Given the description of an element on the screen output the (x, y) to click on. 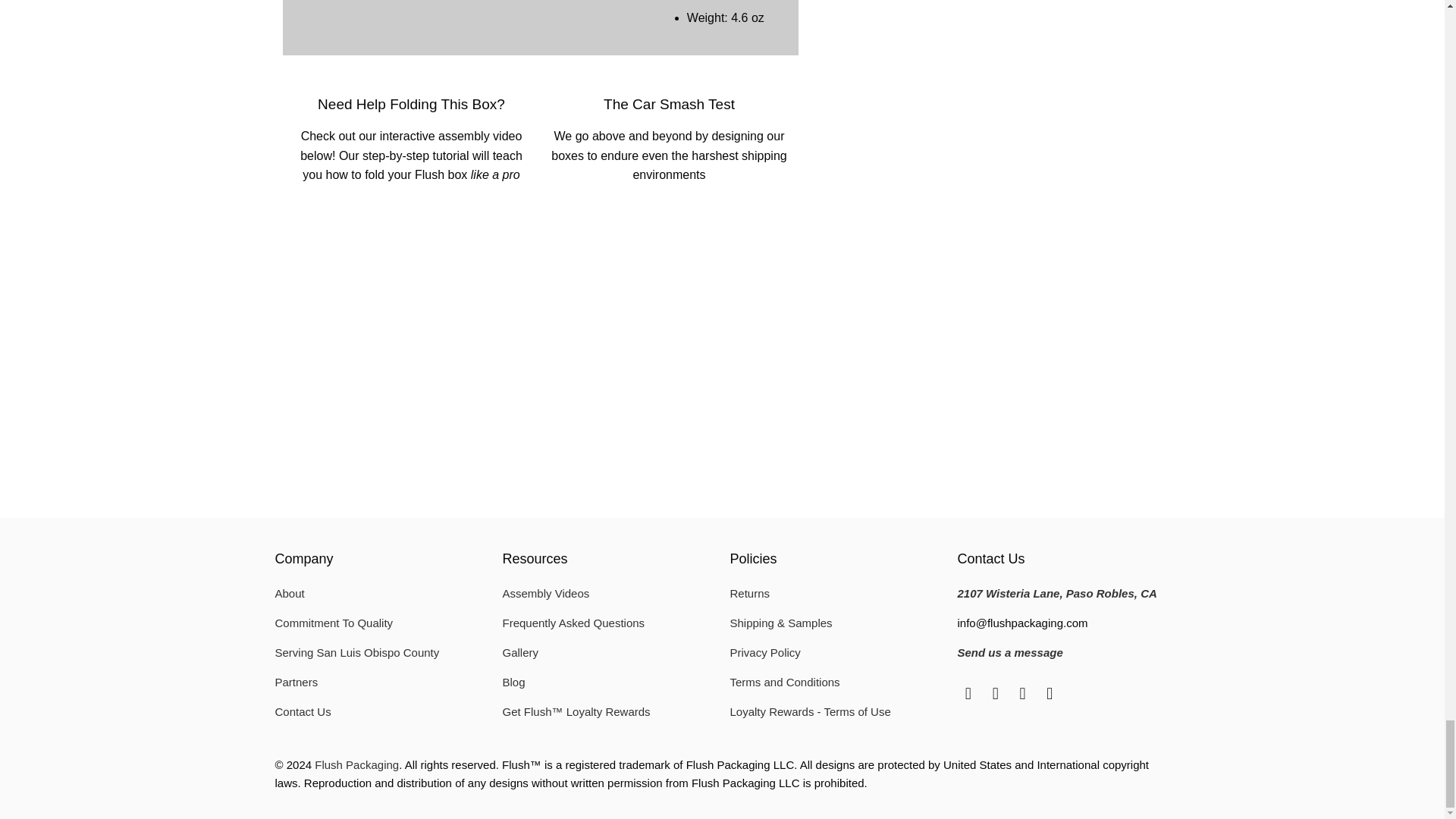
Contact (1009, 652)
YouTube video player (501, 315)
Flush Packaging on YouTube (1050, 693)
Flush Packaging on Instagram (1022, 693)
Flush Packaging on Facebook (995, 693)
Email Flush Packaging (967, 693)
YouTube video player (759, 315)
